Given the description of an element on the screen output the (x, y) to click on. 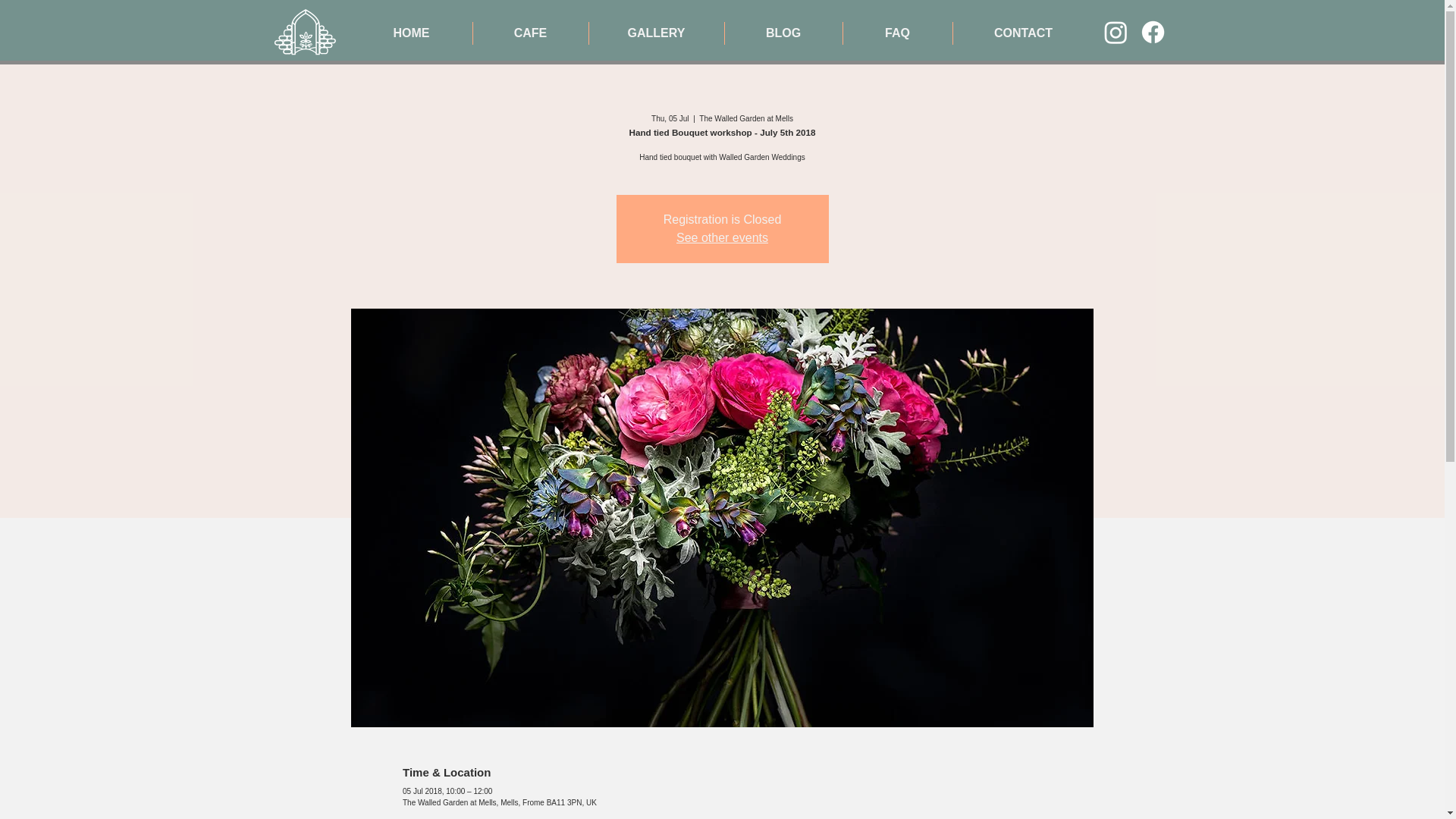
BLOG (784, 33)
CONTACT (1022, 33)
FAQ (897, 33)
See other events (722, 237)
GALLERY (655, 33)
CAFE (530, 33)
HOME (410, 33)
